Given the description of an element on the screen output the (x, y) to click on. 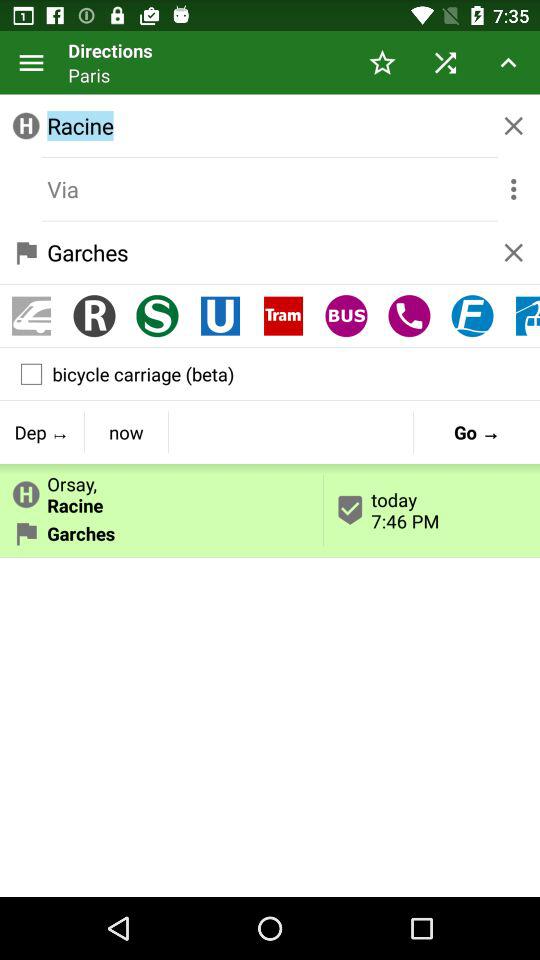
launch the today 7 46 (432, 510)
